Given the description of an element on the screen output the (x, y) to click on. 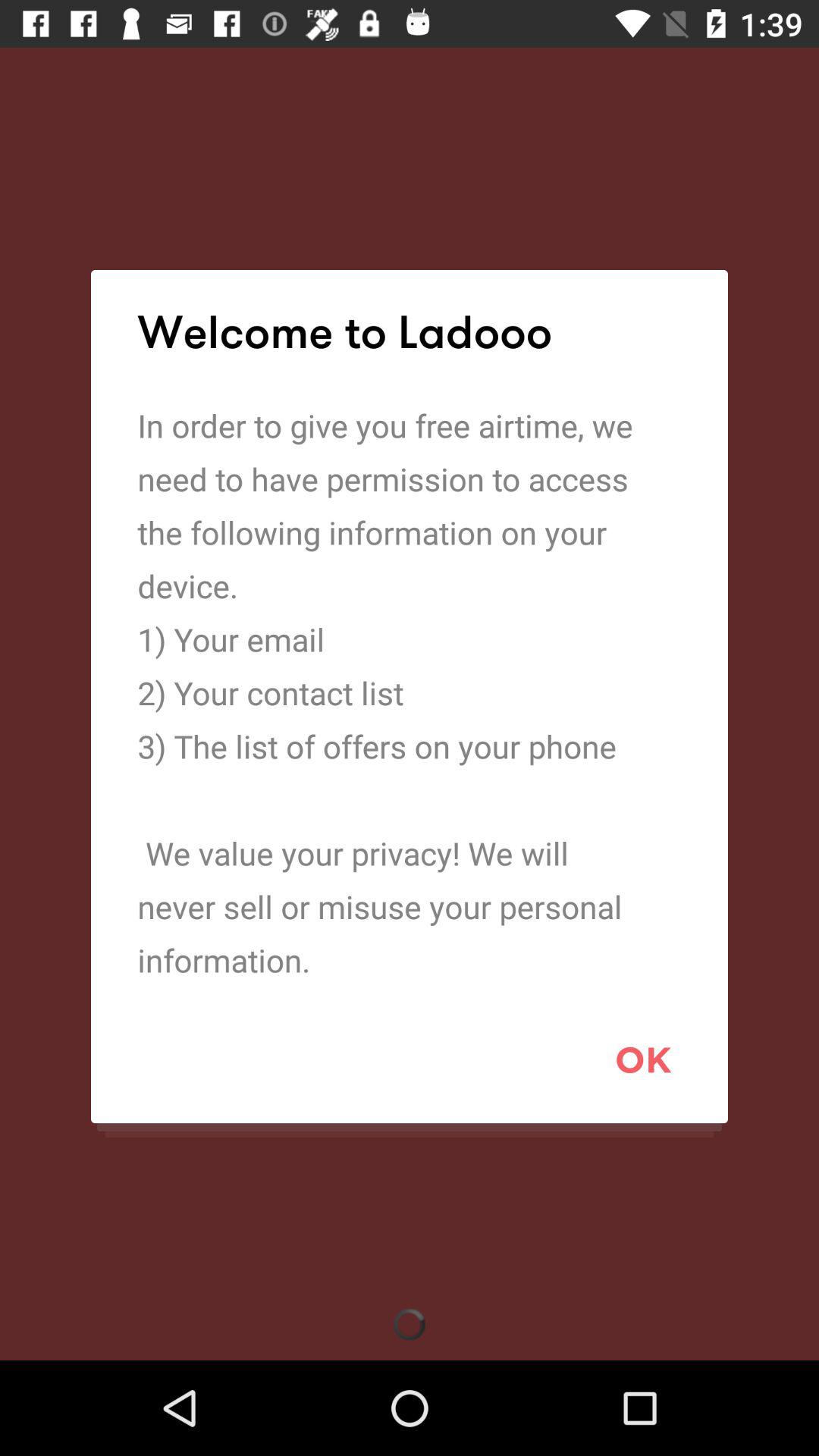
select the icon below the in order to item (642, 1059)
